Given the description of an element on the screen output the (x, y) to click on. 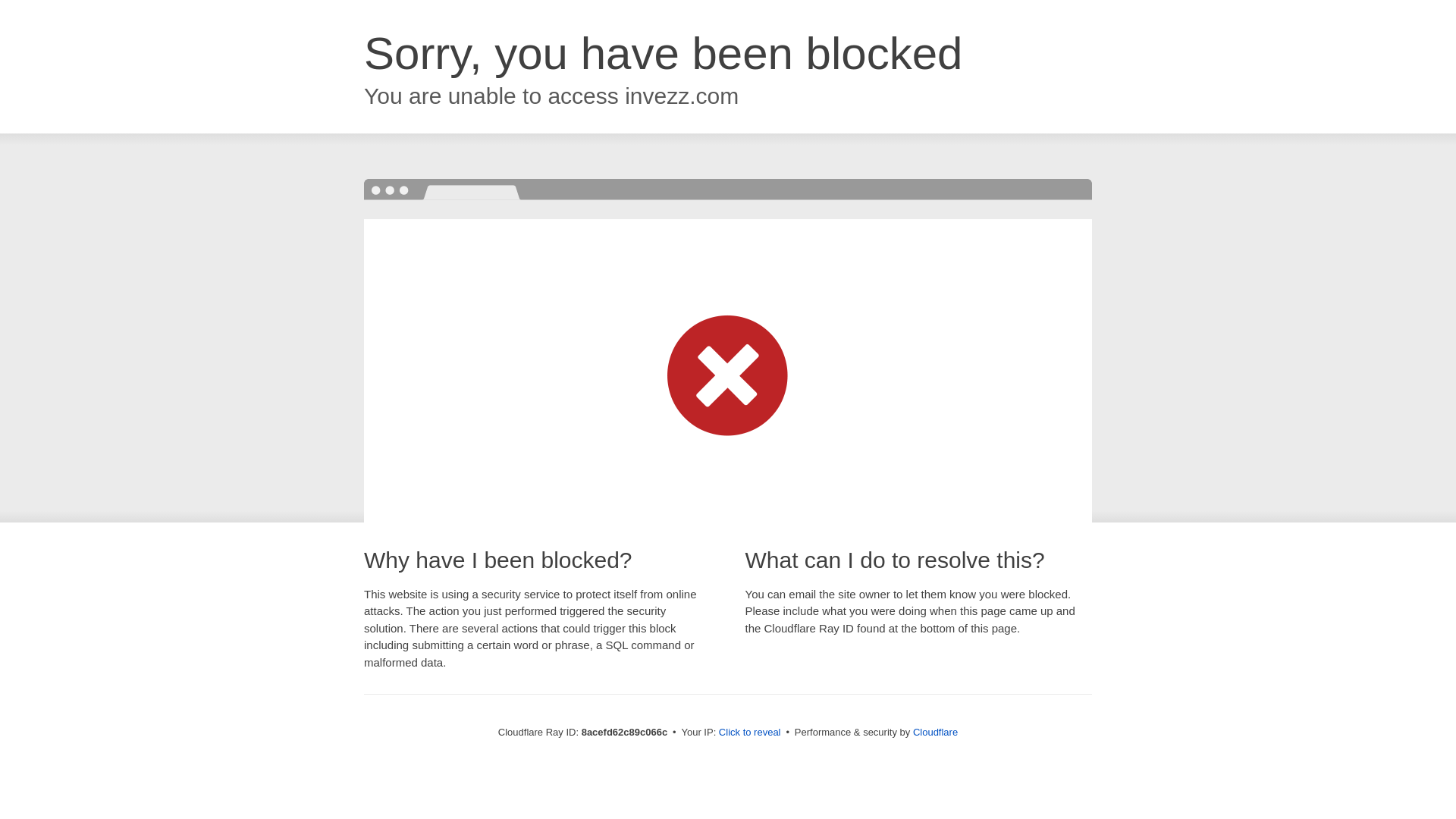
Cloudflare (935, 731)
Click to reveal (749, 732)
